Given the description of an element on the screen output the (x, y) to click on. 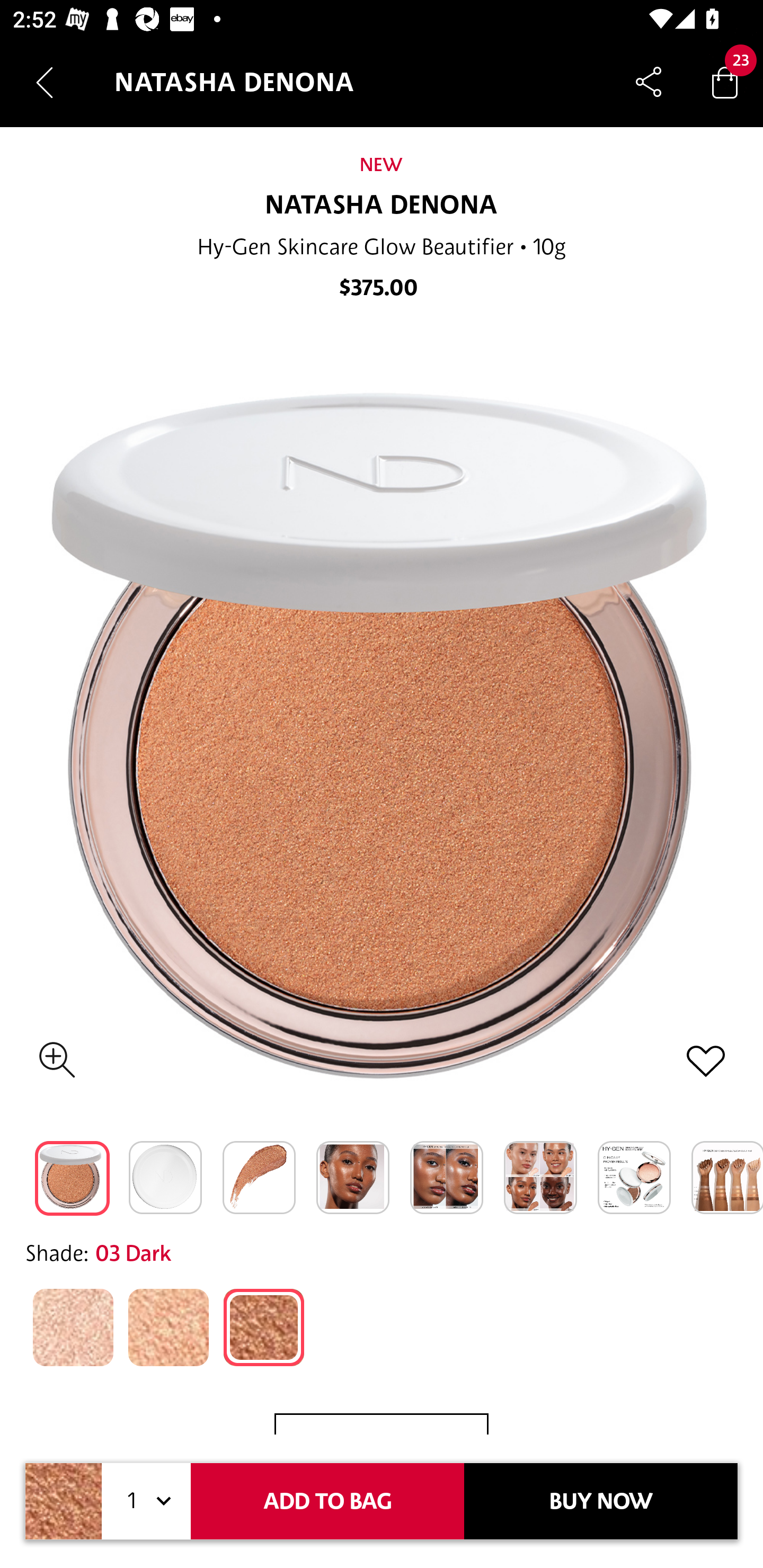
Navigate up (44, 82)
Share (648, 81)
Bag (724, 81)
NATASHA DENONA (381, 205)
1 (145, 1500)
ADD TO BAG (326, 1500)
BUY NOW (600, 1500)
